Given the description of an element on the screen output the (x, y) to click on. 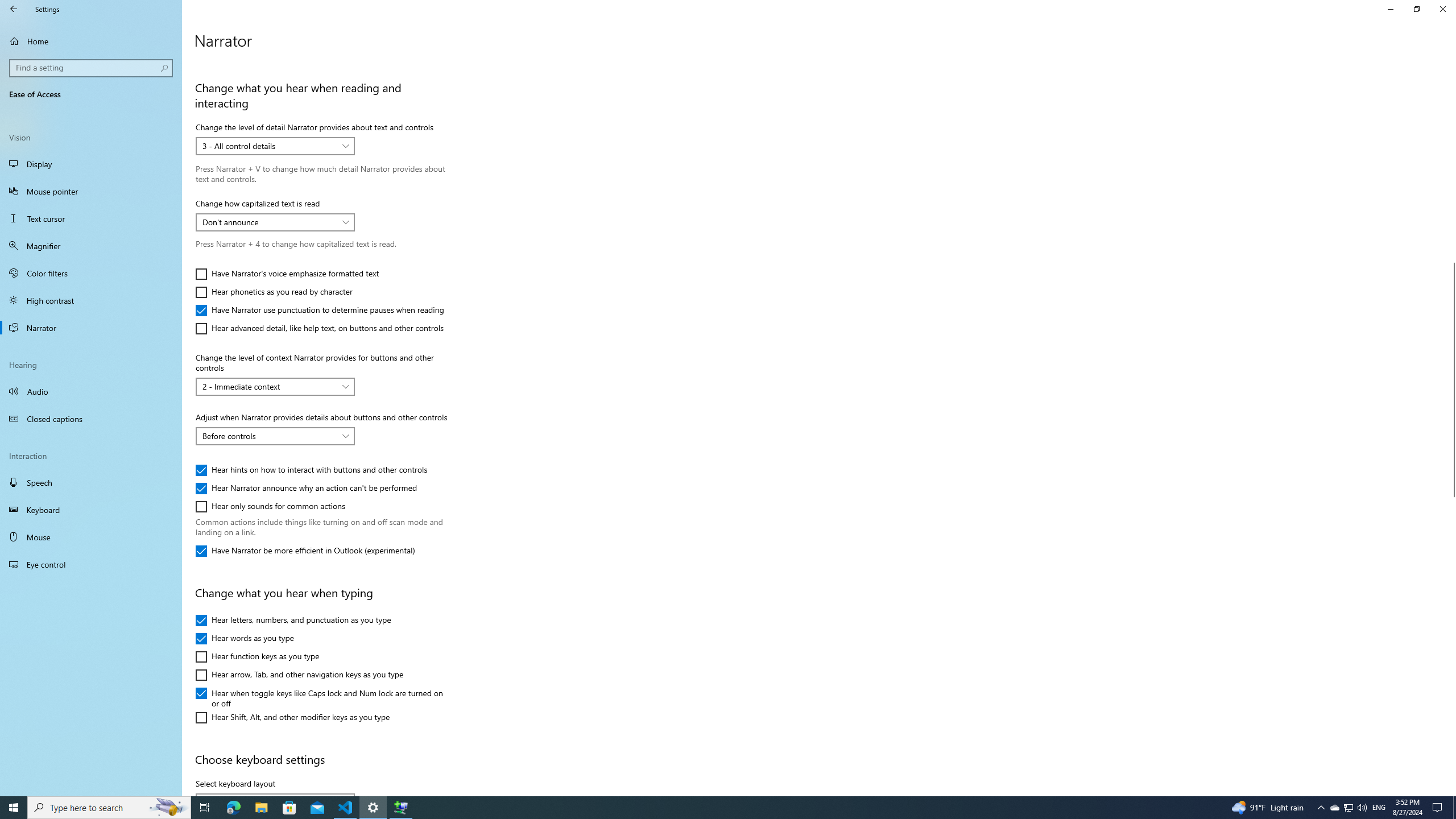
Audio (91, 390)
Mouse pointer (91, 190)
Vertical Small Increase (1451, 791)
Have Narrator's voice emphasize formatted text (287, 274)
Speech (91, 482)
Tray Input Indicator - English (United States) (1378, 807)
Visual Studio Code - 1 running window (345, 807)
Hear letters, numbers, and punctuation as you type (293, 620)
Minimize Settings (1390, 9)
Hear Narrator announce why an action can't be performed (306, 488)
Vertical Large Increase (1451, 642)
Display (91, 163)
Microsoft Edge (233, 807)
